Given the description of an element on the screen output the (x, y) to click on. 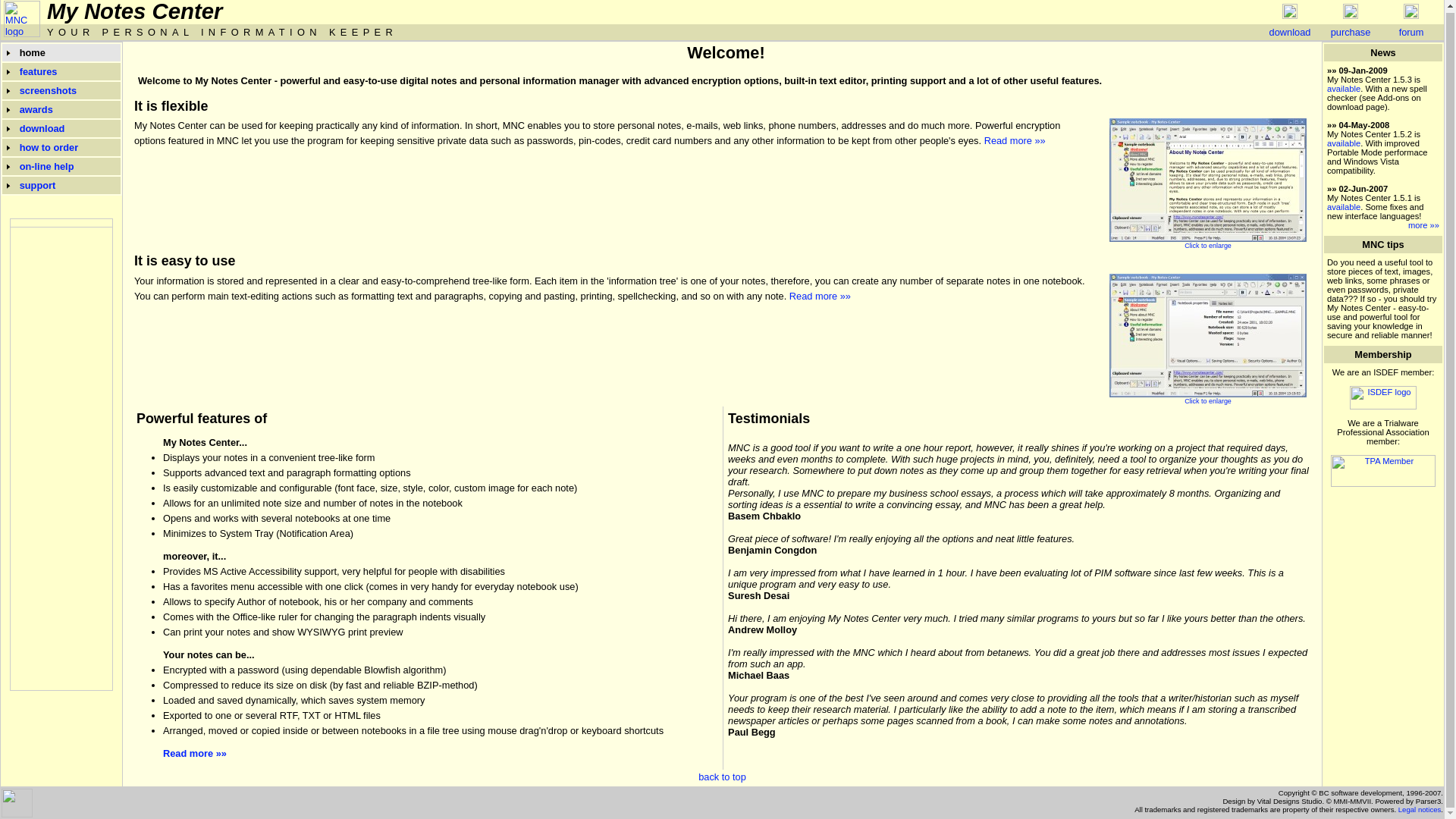
Legal notices (1419, 809)
on-line help (47, 165)
screenshots (48, 90)
features (39, 71)
available (1342, 206)
support (38, 184)
download (42, 128)
forum (1411, 31)
Click to enlarge (1207, 240)
download (1290, 31)
